Given the description of an element on the screen output the (x, y) to click on. 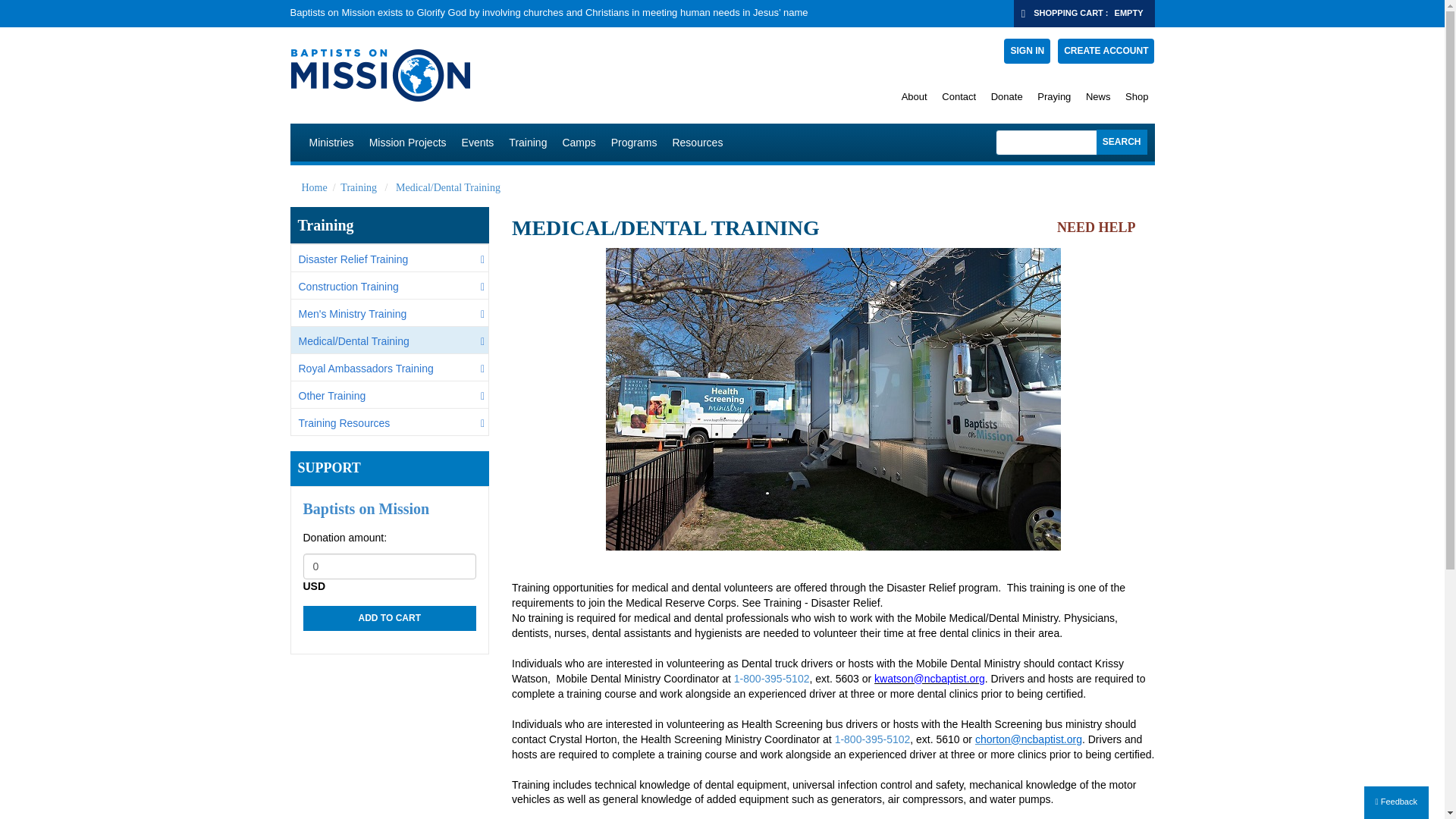
Praying (1053, 96)
Donate (1007, 96)
Mission Projects (407, 142)
Baptists On Mission (536, 75)
About (914, 96)
Shop (1136, 96)
News (1098, 96)
SEARCH (1121, 141)
Events (478, 142)
CREATE ACCOUNT (1106, 50)
Contact (958, 96)
SHOPPING CART (1068, 12)
0 (389, 566)
SIGN IN (1026, 50)
Ministries (331, 142)
